Given the description of an element on the screen output the (x, y) to click on. 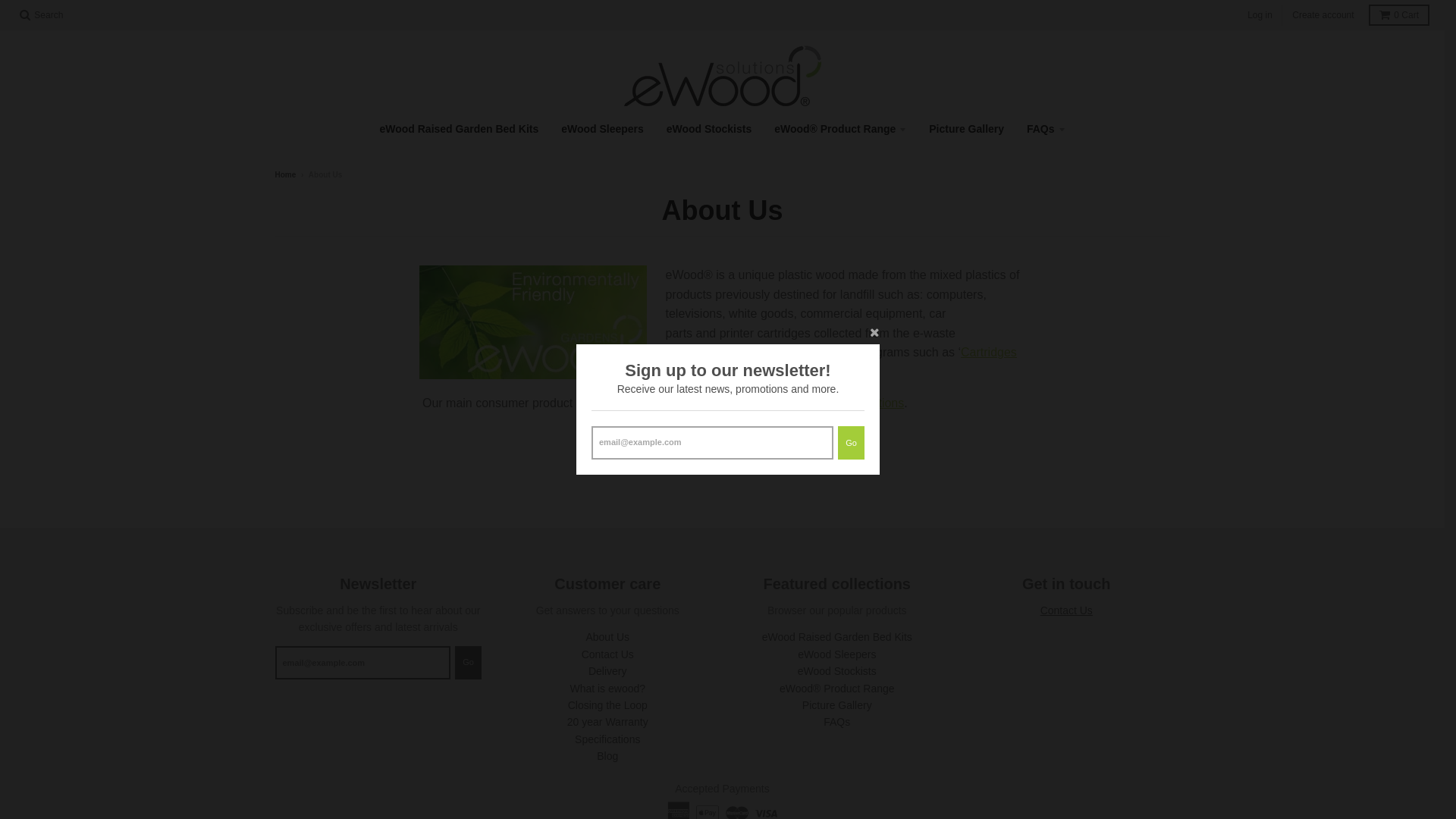
Home Element type: text (284, 174)
What is ewood? Element type: text (607, 688)
Search Element type: text (41, 14)
Log in Element type: text (1259, 14)
eWood Raised Garden Bed Kits Element type: text (837, 636)
eWood Stockists Element type: text (836, 671)
Picture Gallery Element type: text (837, 705)
Specifications Element type: text (607, 739)
Go Element type: text (468, 662)
Picture Gallery Element type: text (966, 128)
Blog Element type: text (607, 755)
eWood Raised Garden Bed Kits Element type: text (458, 128)
Contact Us Element type: text (1066, 610)
Go Element type: text (850, 442)
Delivery Element type: text (607, 671)
eWood Sleepers Element type: text (836, 654)
About Us Element type: text (607, 636)
eWood Stockists Element type: text (709, 128)
FAQs Element type: text (1045, 128)
20 year Warranty Element type: text (607, 721)
Closing the Loop Element type: text (607, 705)
Cartridges 4 Planet Ark Element type: text (840, 361)
Create account Element type: text (1322, 14)
eWood Sleepers Element type: text (602, 128)
0 Cart Element type: text (1398, 14)
eWood Solutions Element type: text (858, 402)
FAQs Element type: text (836, 721)
Contact Us Element type: text (607, 654)
